Given the description of an element on the screen output the (x, y) to click on. 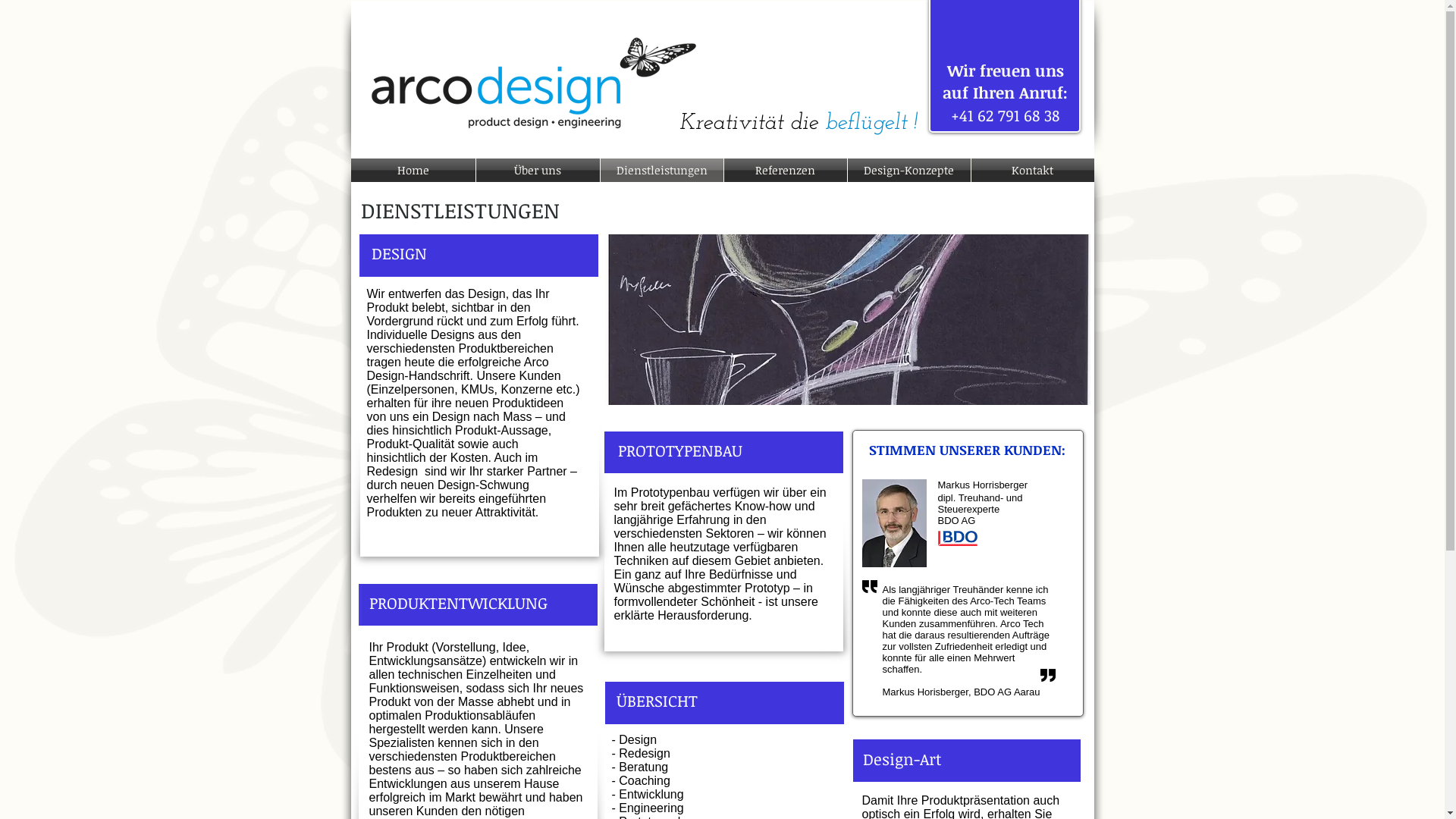
Design-Konzepte Element type: text (908, 170)
Home Element type: text (412, 170)
Dienstleistungen Element type: text (661, 170)
Referenzen Element type: text (784, 170)
Kontakt Element type: text (1031, 170)
